Given the description of an element on the screen output the (x, y) to click on. 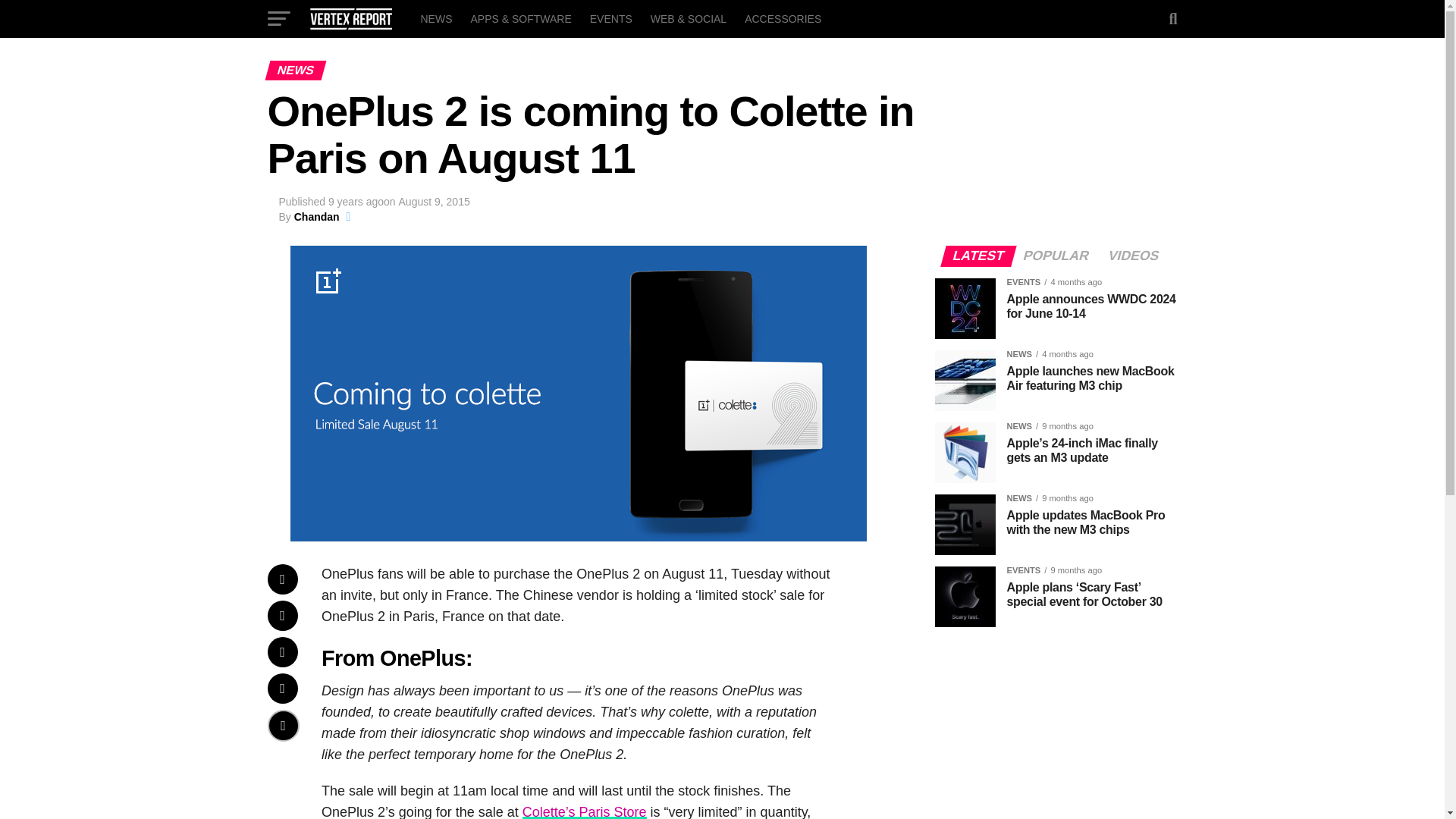
Events (611, 18)
EVENTS (611, 18)
Posts by Chandan (316, 216)
NEWS (435, 18)
News (435, 18)
ACCESSORIES (782, 18)
